Given the description of an element on the screen output the (x, y) to click on. 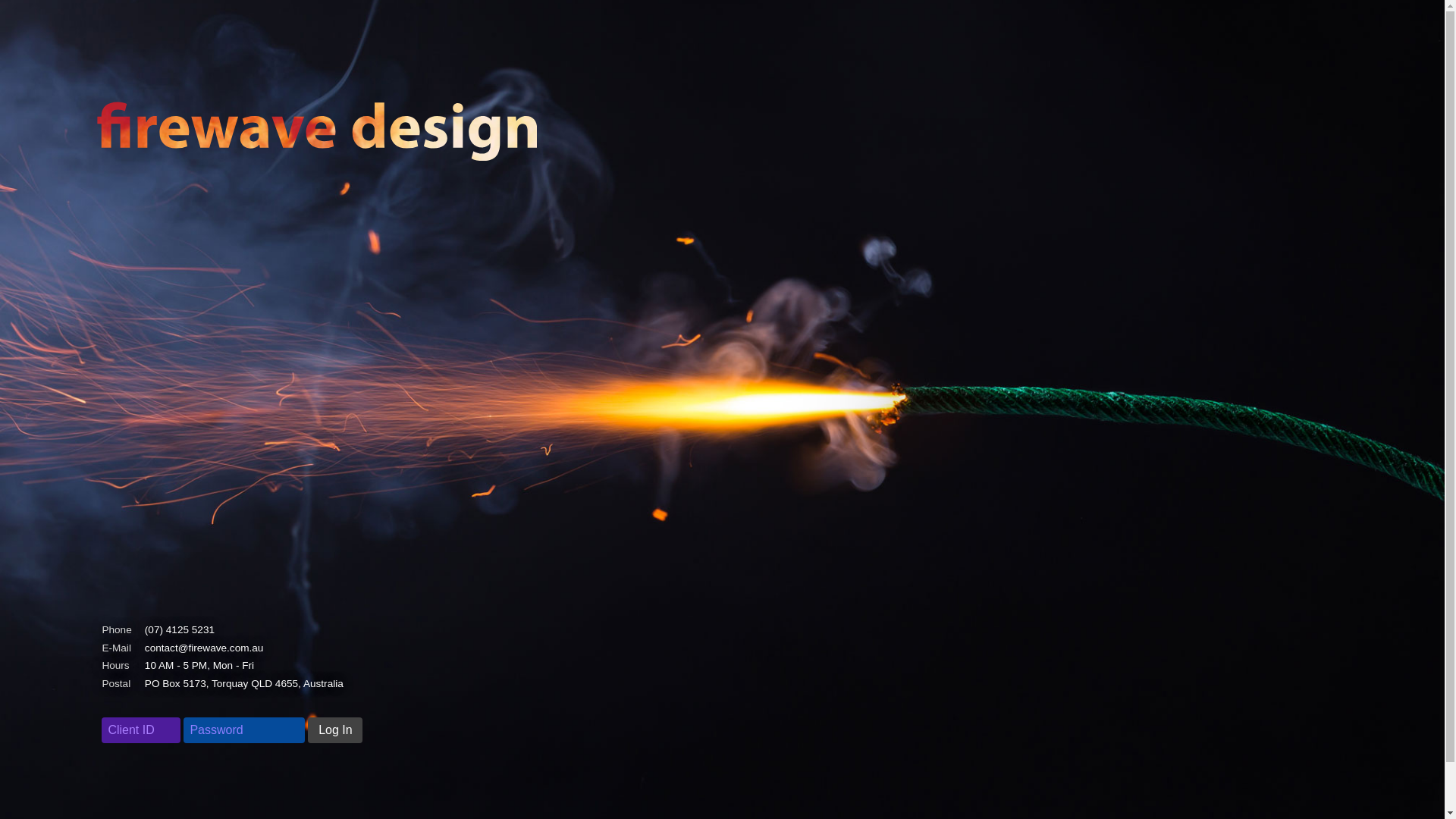
(07) 4125 5231 Element type: text (179, 629)
Log In Element type: text (334, 730)
contact@firewave.com.au Element type: text (203, 647)
